Given the description of an element on the screen output the (x, y) to click on. 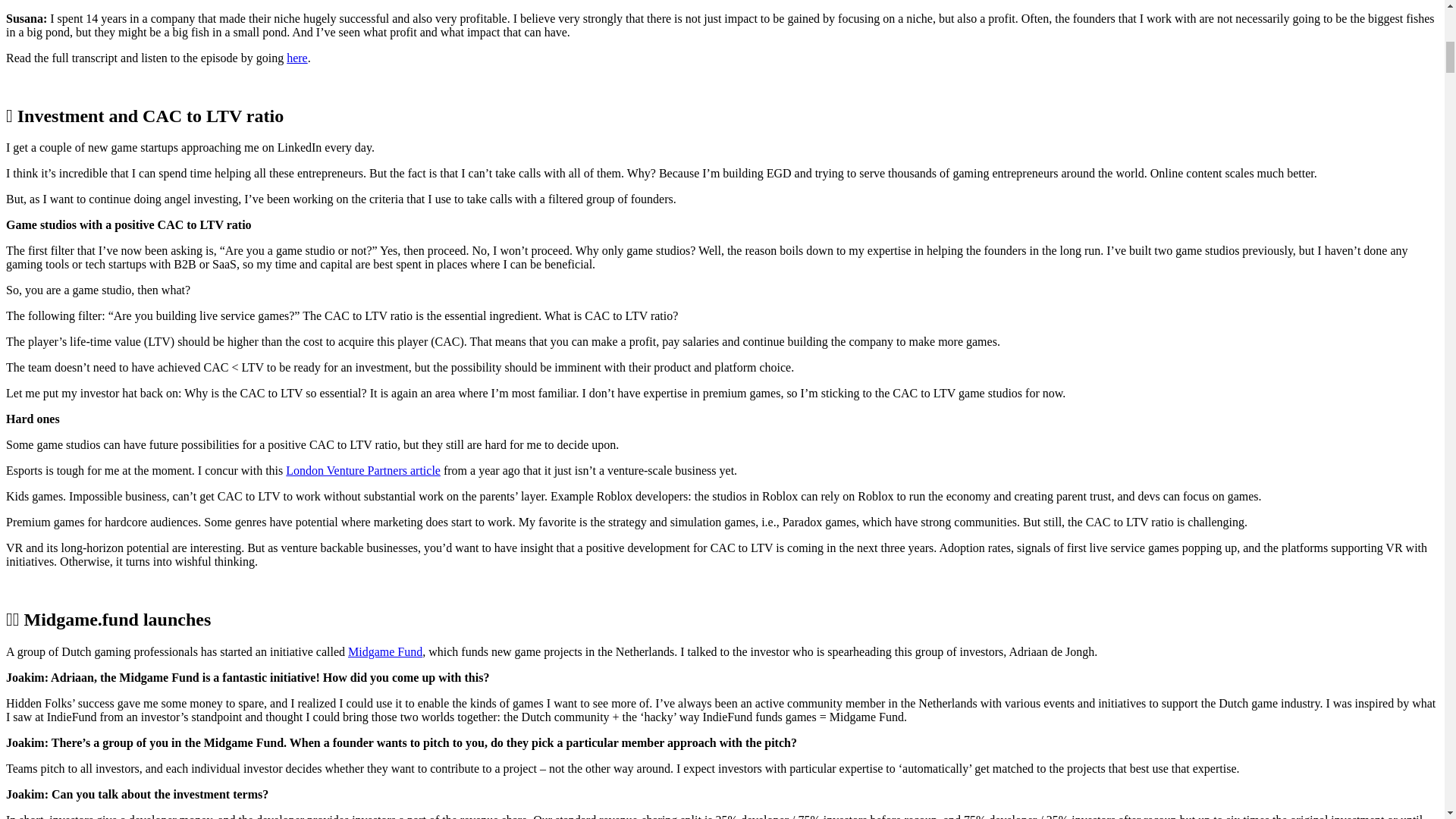
London Venture Partners article (363, 470)
here (296, 57)
Midgame Fund (384, 651)
